Given the description of an element on the screen output the (x, y) to click on. 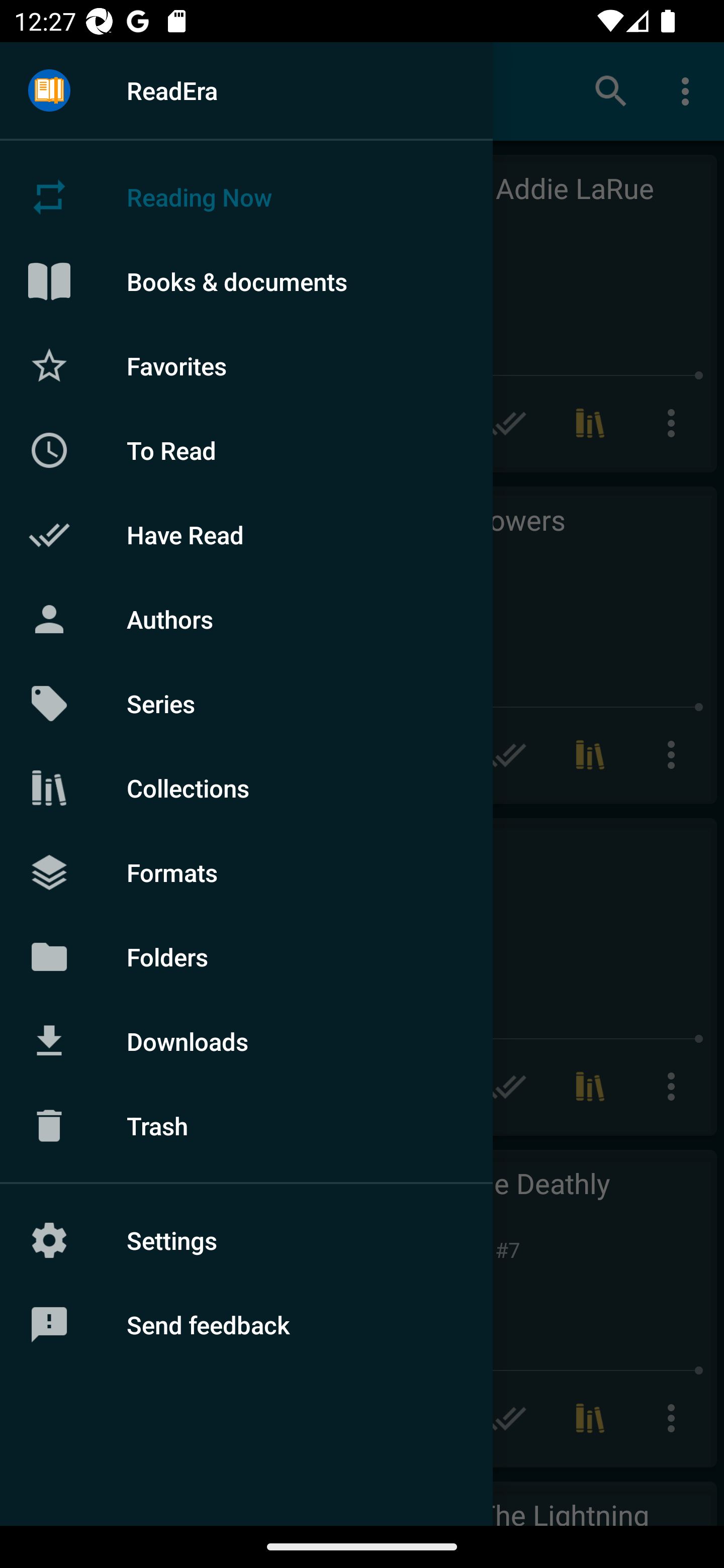
Menu (49, 91)
ReadEra (246, 89)
Search books & documents (611, 90)
More options (688, 90)
Reading Now (246, 197)
Books & documents (246, 281)
Favorites (246, 365)
To Read (246, 449)
Have Read (246, 534)
Authors (246, 619)
Series (246, 703)
Collections (246, 787)
Formats (246, 871)
Folders (246, 956)
Downloads (246, 1040)
Trash (246, 1125)
Settings (246, 1239)
Send feedback (246, 1324)
